Given the description of an element on the screen output the (x, y) to click on. 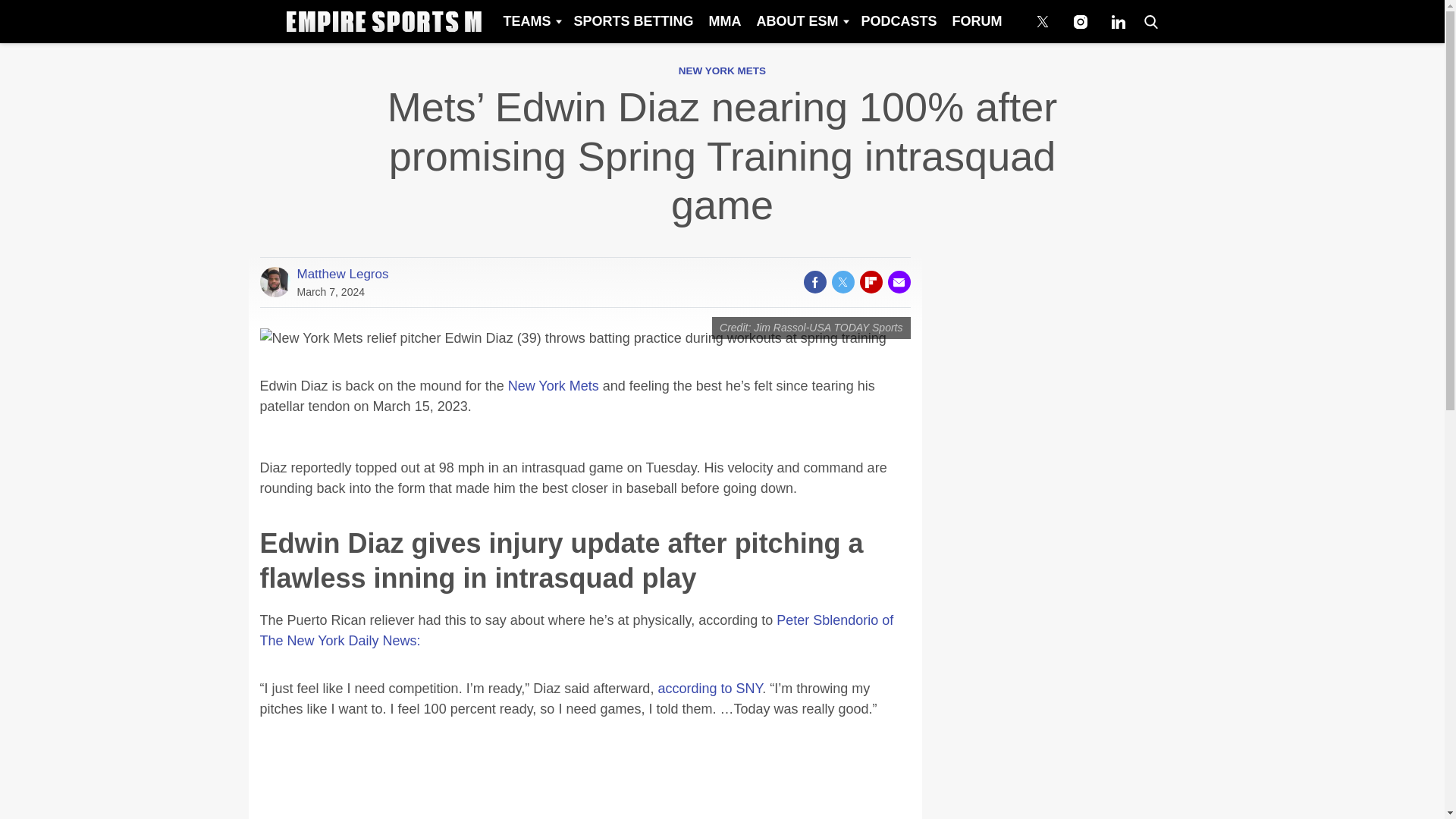
Share on Flipboard (871, 282)
Share on Twitter (842, 282)
ABOUT ESM (800, 21)
Share on Facebook (815, 282)
New York Mets (553, 385)
NEW YORK METS (721, 70)
Posts by Matthew Legros (342, 274)
FORUM (977, 21)
Peter Sblendorio of The New York Daily News: (576, 630)
TEAMS (530, 21)
